Given the description of an element on the screen output the (x, y) to click on. 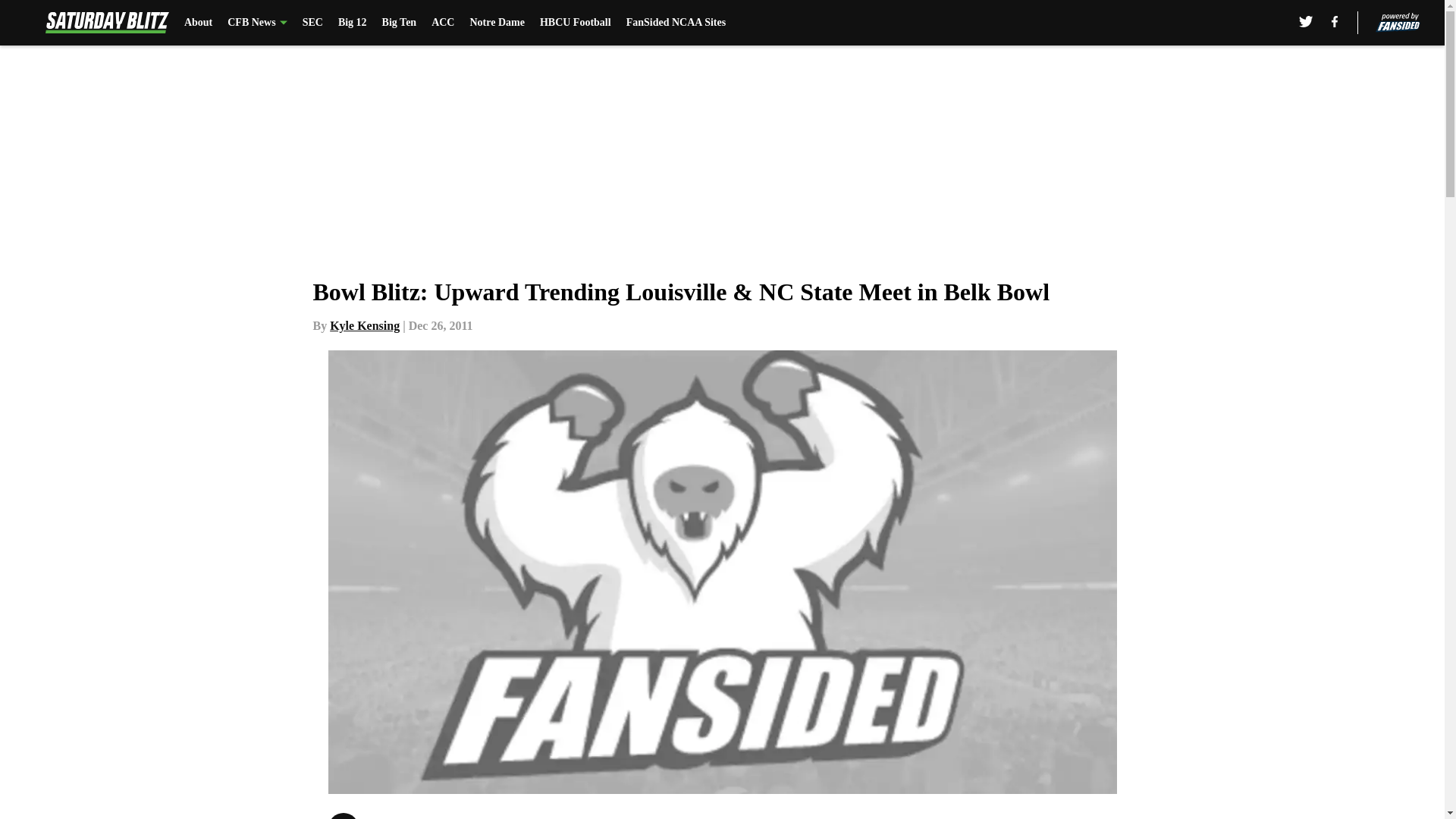
About (198, 22)
Big Ten (398, 22)
Notre Dame (496, 22)
FanSided NCAA Sites (675, 22)
HBCU Football (575, 22)
ACC (442, 22)
Kyle Kensing (364, 325)
Big 12 (351, 22)
SEC (312, 22)
